Given the description of an element on the screen output the (x, y) to click on. 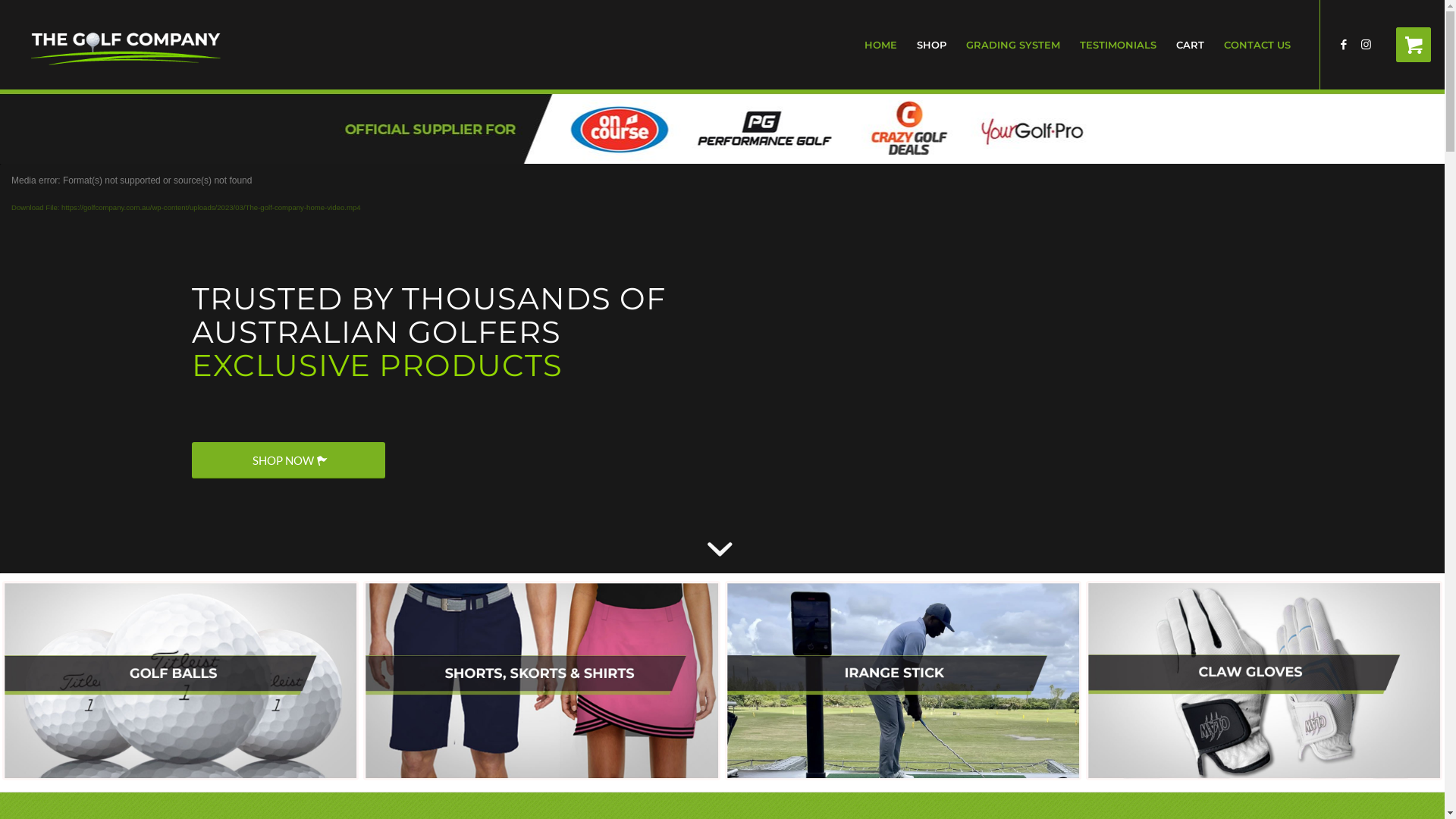
HOME Element type: text (880, 44)
irange-thumb Element type: hover (902, 680)
SHOP Element type: text (931, 44)
GRADING SYSTEM Element type: text (1013, 44)
Logo-The-Golf-Company-340 Element type: hover (125, 44)
CONTACT US Element type: text (1257, 44)
claw-glove-thumb Element type: hover (1263, 680)
Facebook Element type: hover (1343, 43)
golf-balls-thumb Element type: hover (180, 680)
SHOP NOW Element type: text (287, 460)
shorts-thumb Element type: hover (541, 680)
TESTIMONIALS Element type: text (1118, 44)
Instagram Element type: hover (1366, 43)
CART Element type: text (1190, 44)
